Given the description of an element on the screen output the (x, y) to click on. 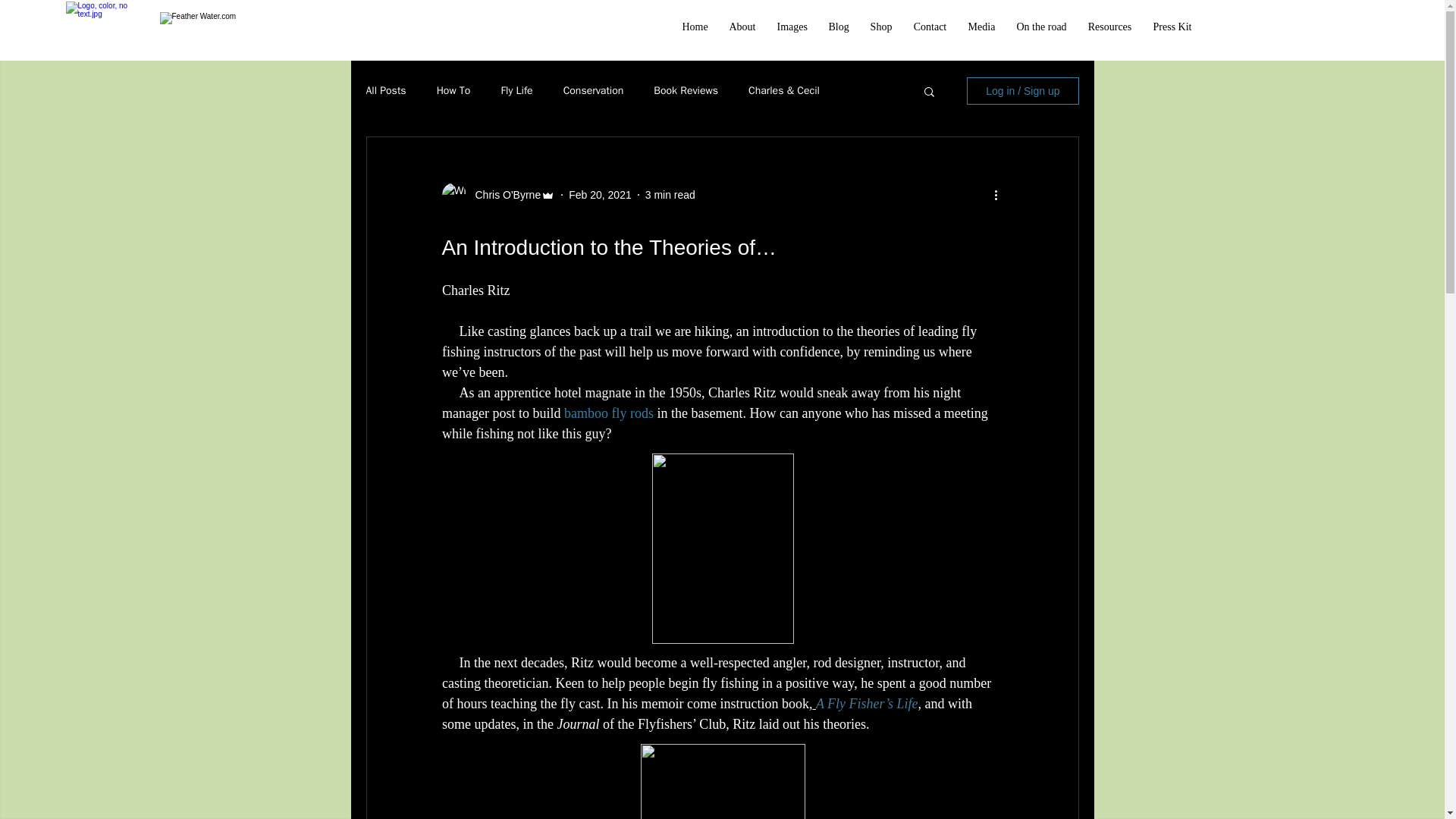
Contact (929, 26)
Fly Life (516, 90)
How To (453, 90)
Feb 20, 2021 (600, 193)
Conservation (593, 90)
Resources (1109, 26)
Shop (881, 26)
Book Reviews (685, 90)
Images (790, 26)
Blog (837, 26)
About (743, 26)
bamboo fly rods (607, 412)
Press Kit (1171, 26)
Home (695, 26)
All Posts (385, 90)
